Given the description of an element on the screen output the (x, y) to click on. 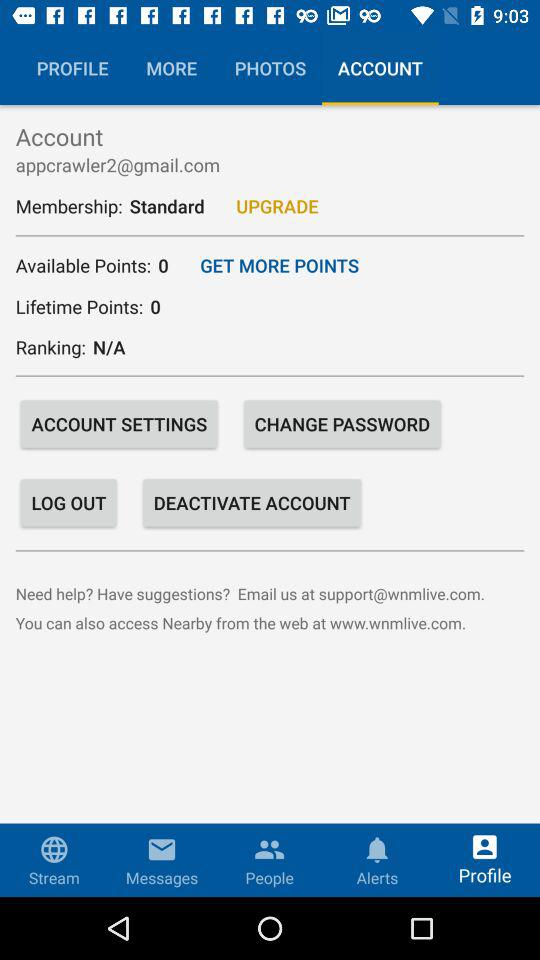
turn off item next to the 0 icon (279, 265)
